Given the description of an element on the screen output the (x, y) to click on. 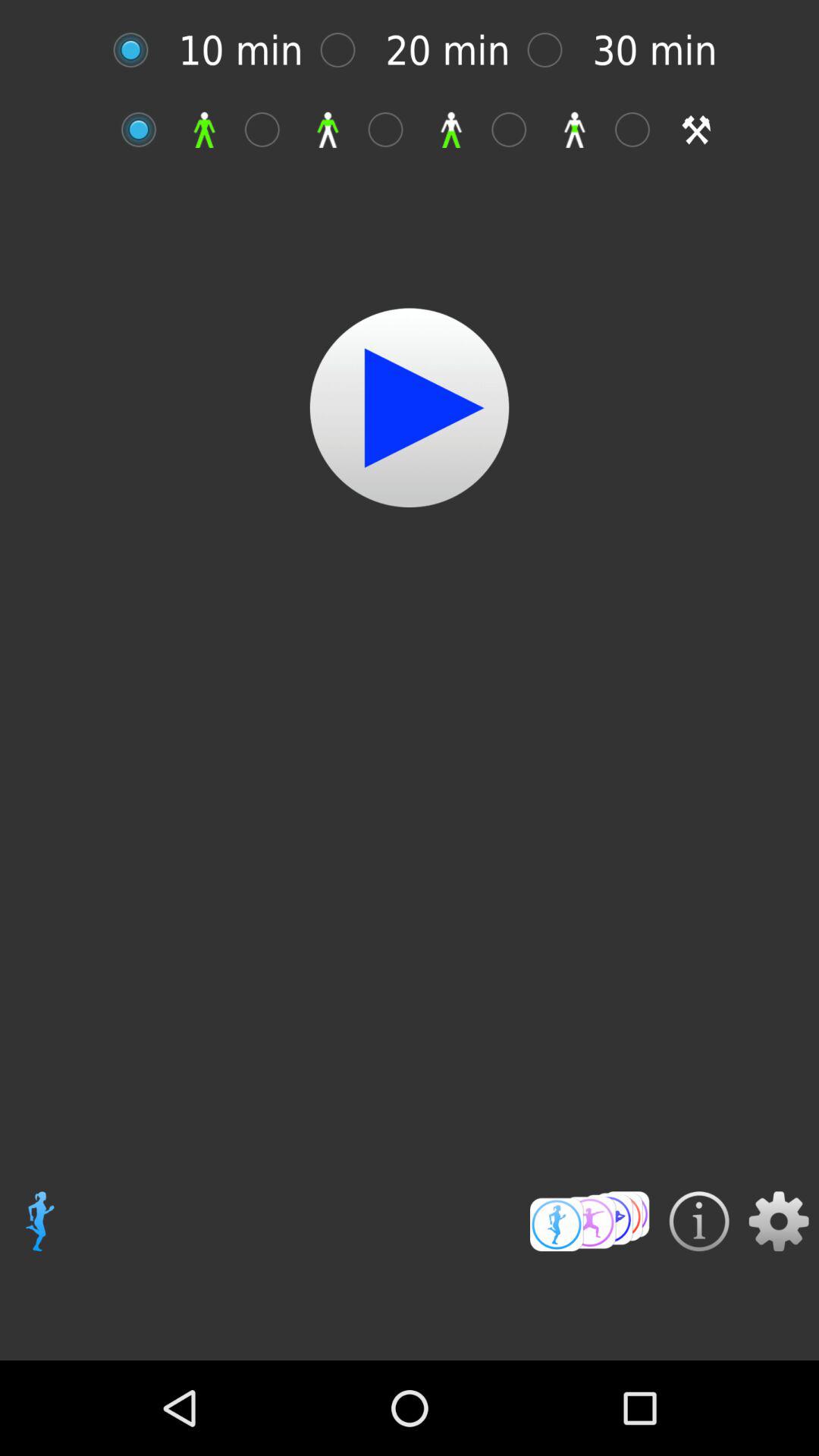
go to setting (640, 129)
